Given the description of an element on the screen output the (x, y) to click on. 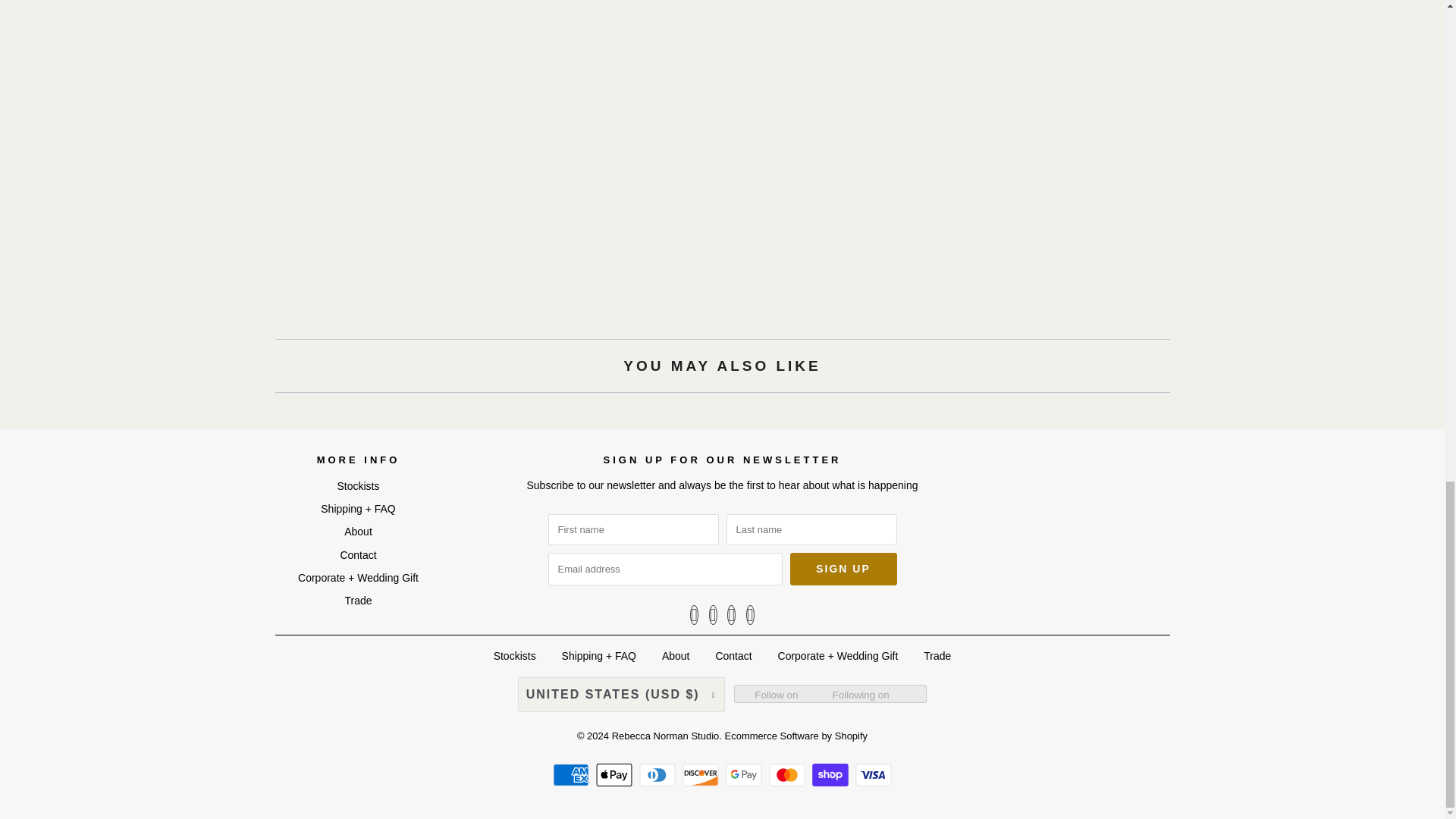
Sign Up (843, 568)
Visa (873, 774)
Trade (357, 600)
Contact (357, 554)
American Express (572, 774)
Mastercard (788, 774)
Google Pay (745, 774)
Apple Pay (615, 774)
Diners Club (659, 774)
Discover (702, 774)
About (357, 531)
Shop Pay (831, 774)
Stockists (357, 485)
